Given the description of an element on the screen output the (x, y) to click on. 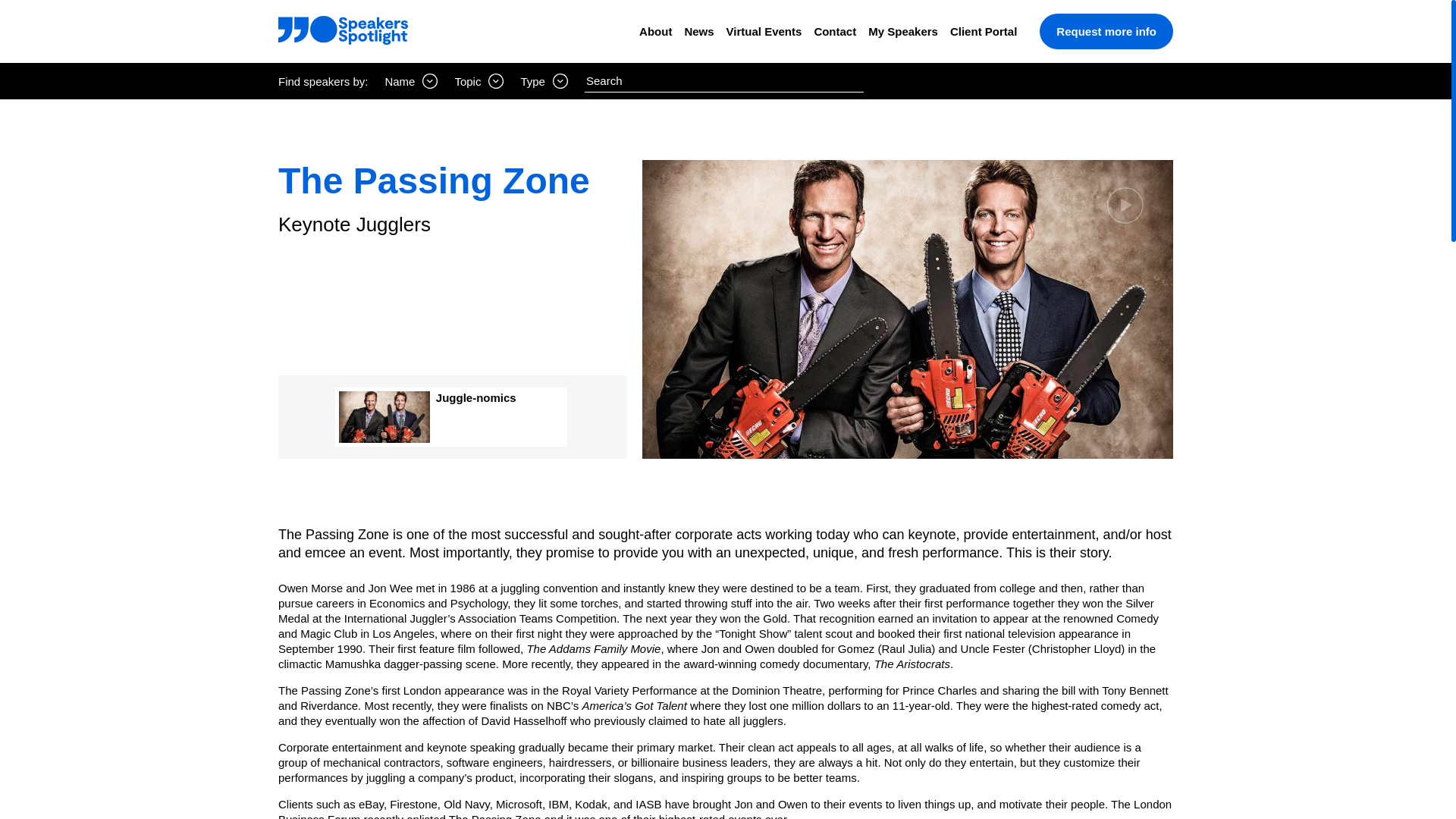
News (698, 31)
Virtual Events (764, 31)
About (655, 31)
Request more info (1106, 31)
Contact (834, 31)
Client Portal (983, 31)
My Speakers (902, 31)
Name (411, 80)
